Given the description of an element on the screen output the (x, y) to click on. 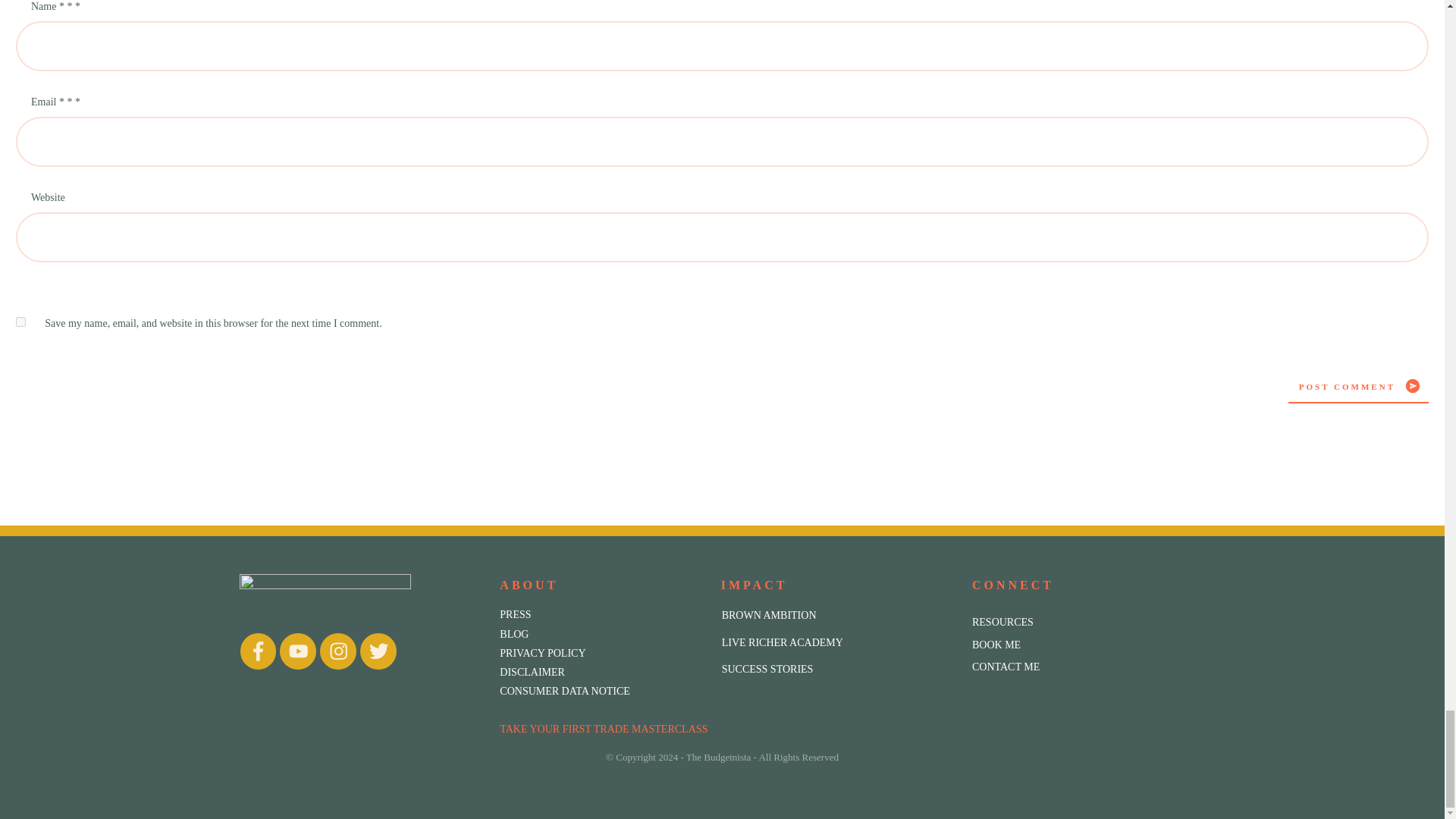
POST COMMENT (1358, 385)
LIVE RICHER ACADEMY (782, 642)
PRESS (515, 614)
yes (21, 321)
PRIVACY POLICY (542, 653)
BROWN AMBITION (769, 615)
CONSUMER DATA NOTICE (564, 690)
BLOG (513, 633)
TAKE YOUR FIRST TRADE MASTERCLASS (603, 728)
DISCLAIMER (531, 672)
